Given the description of an element on the screen output the (x, y) to click on. 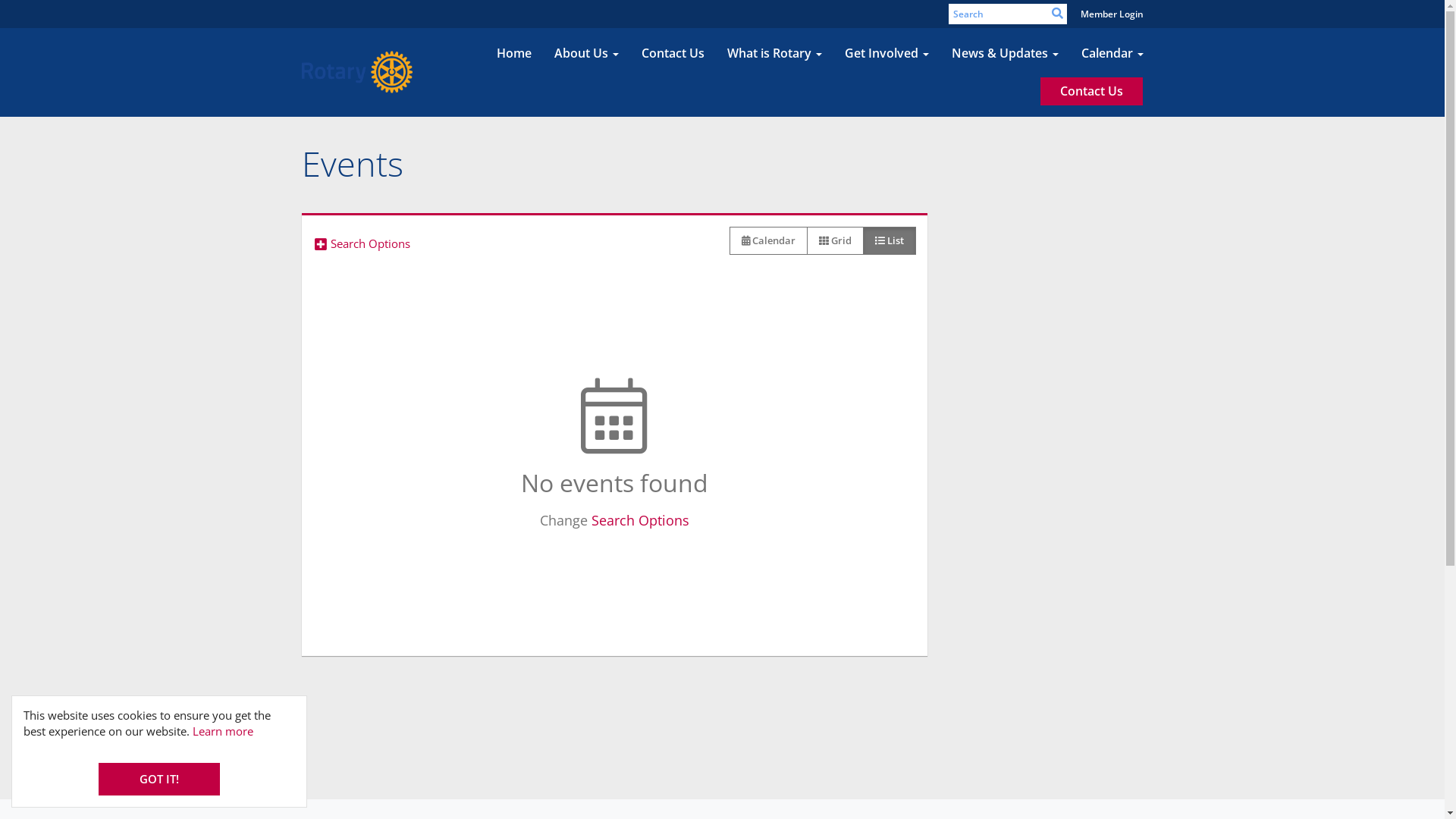
Calendar Element type: text (1111, 53)
Get Involved Element type: text (885, 53)
GOT IT! Element type: text (158, 778)
About Us Element type: text (586, 53)
Contact Us Element type: text (672, 53)
Calendar Element type: text (768, 240)
Learn more Element type: text (222, 730)
Member Login Element type: text (1110, 13)
Search Options Element type: text (640, 520)
Grid Element type: text (834, 240)
Search Options Element type: text (370, 243)
Contact Us Element type: text (1091, 90)
News & Updates Element type: text (1005, 53)
What is Rotary Element type: text (774, 53)
Home Element type: text (513, 53)
